Given the description of an element on the screen output the (x, y) to click on. 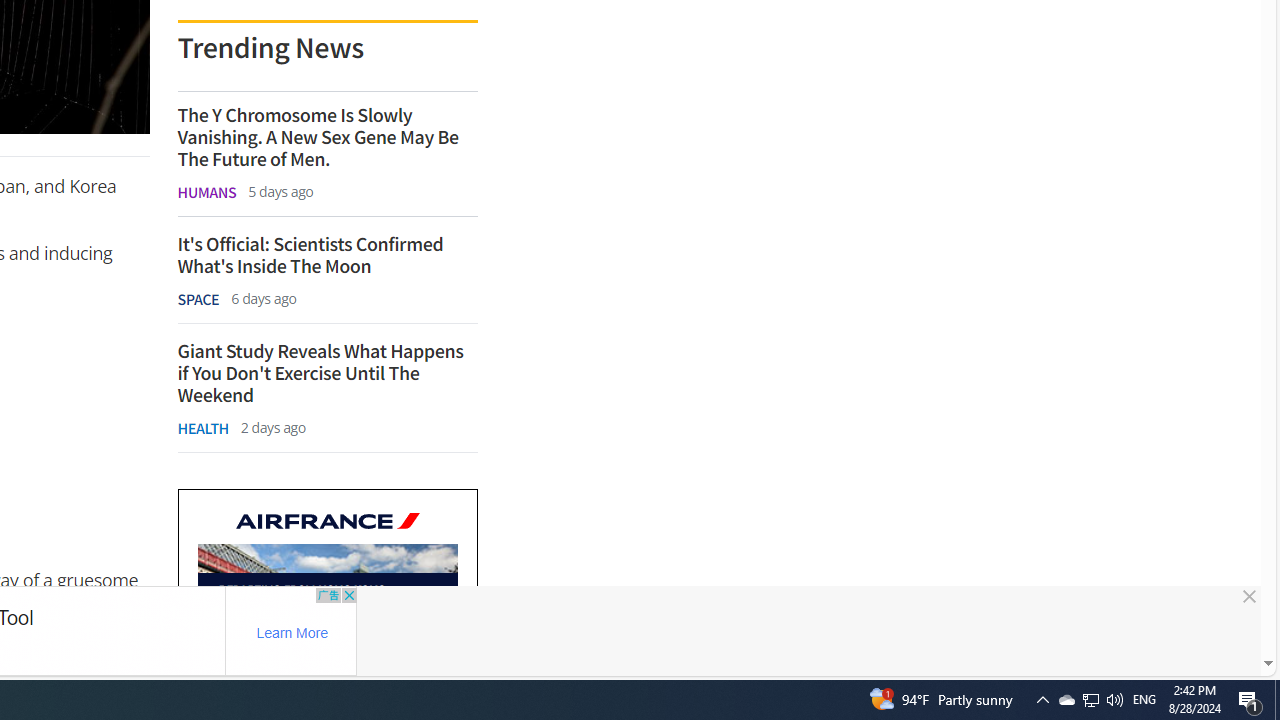
SPACE (198, 299)
HEALTH (202, 427)
HUMANS (206, 191)
It's Official: Scientists Confirmed What's Inside The Moon (326, 255)
